Given the description of an element on the screen output the (x, y) to click on. 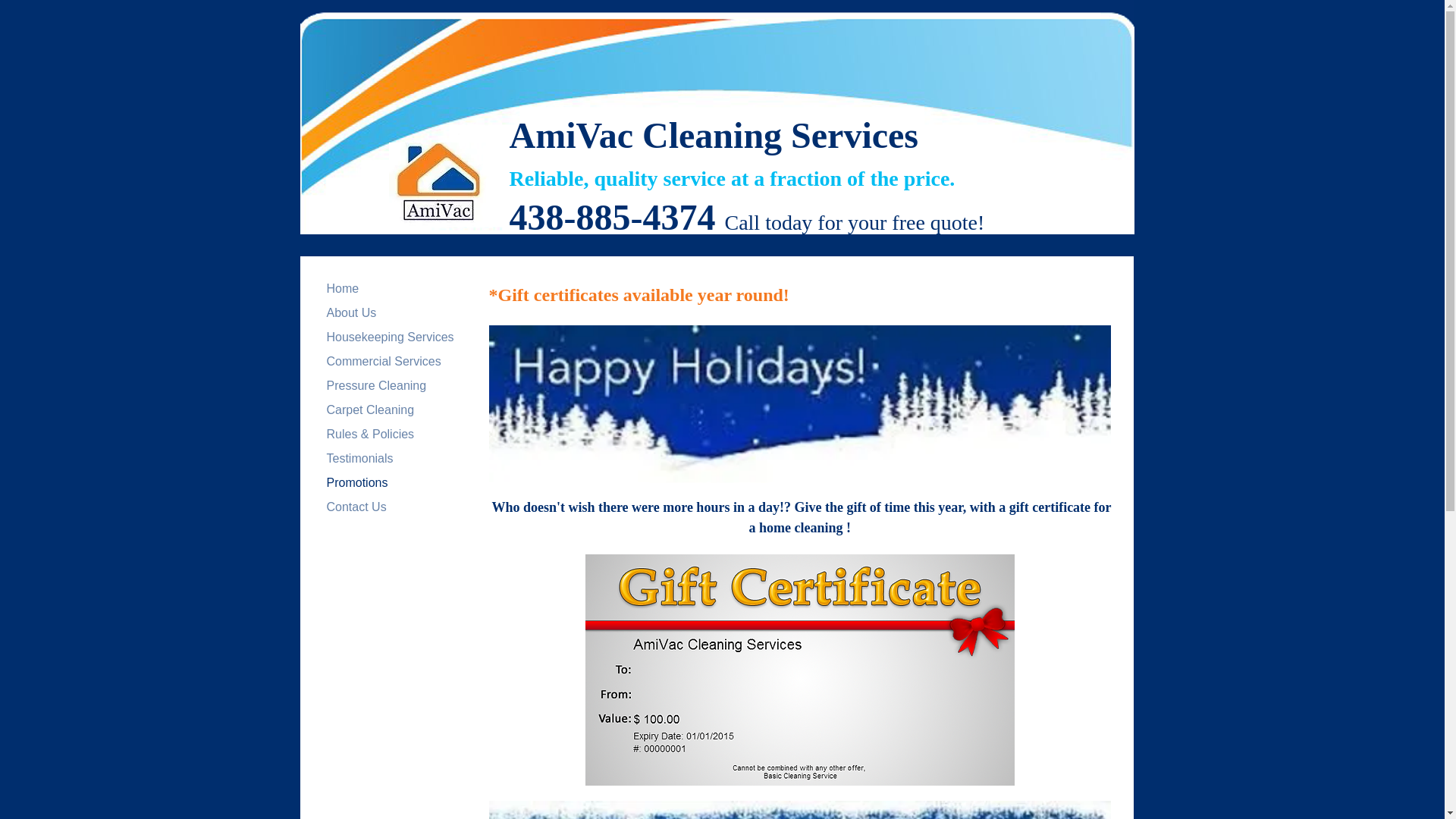
Home Element type: text (342, 288)
Carpet Cleaning Element type: text (369, 409)
Rules & Policies Element type: text (369, 434)
Housekeeping Services Element type: text (389, 337)
Contact Us Element type: text (355, 506)
About Us Element type: text (350, 312)
Testimonials Element type: text (359, 458)
Commercial Services Element type: text (383, 361)
Pressure Cleaning Element type: text (375, 385)
Promotions Element type: text (356, 482)
